Given the description of an element on the screen output the (x, y) to click on. 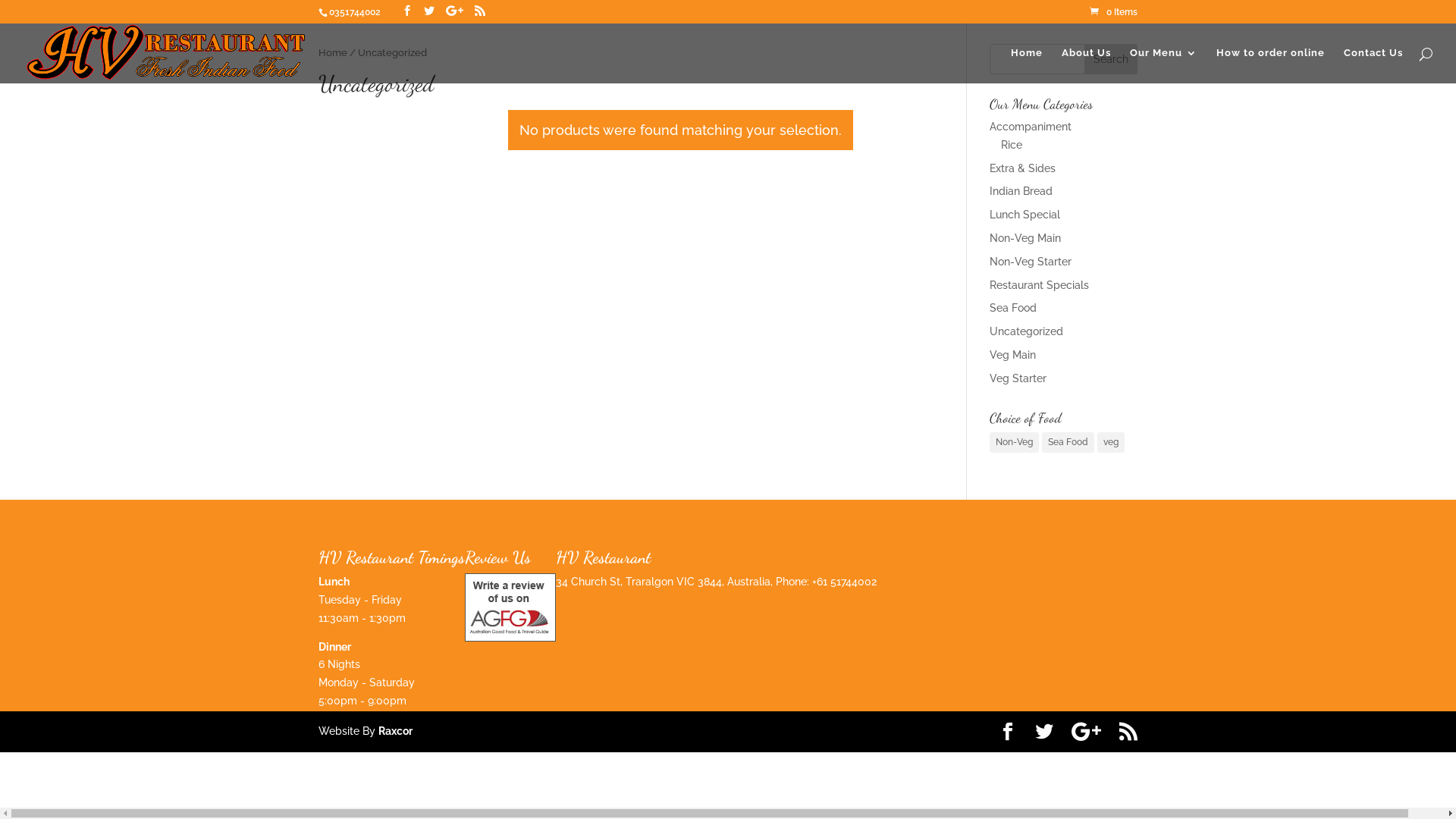
How to order online Element type: text (1270, 65)
Non-Veg Starter Element type: text (1030, 261)
Raxcor Element type: text (395, 730)
Rice Element type: text (1011, 144)
Uncategorized Element type: text (1026, 331)
Lunch Special Element type: text (1024, 214)
Accompaniment Element type: text (1030, 126)
Non-Veg Main Element type: text (1024, 238)
Indian Bread Element type: text (1020, 191)
Non-Veg Element type: text (1013, 442)
Sea Food Element type: text (1012, 307)
Veg Starter Element type: text (1017, 378)
0 Items Element type: text (1113, 11)
HV Restaurant Element type: hover (509, 637)
Home Element type: text (1026, 65)
About Us Element type: text (1085, 65)
Sea Food Element type: text (1067, 442)
Veg Main Element type: text (1012, 354)
veg Element type: text (1110, 442)
Restaurant Specials Element type: text (1038, 285)
Search Element type: text (1110, 58)
Contact Us Element type: text (1372, 65)
Our Menu Element type: text (1163, 65)
Home Element type: text (332, 52)
Extra & Sides Element type: text (1022, 168)
